Given the description of an element on the screen output the (x, y) to click on. 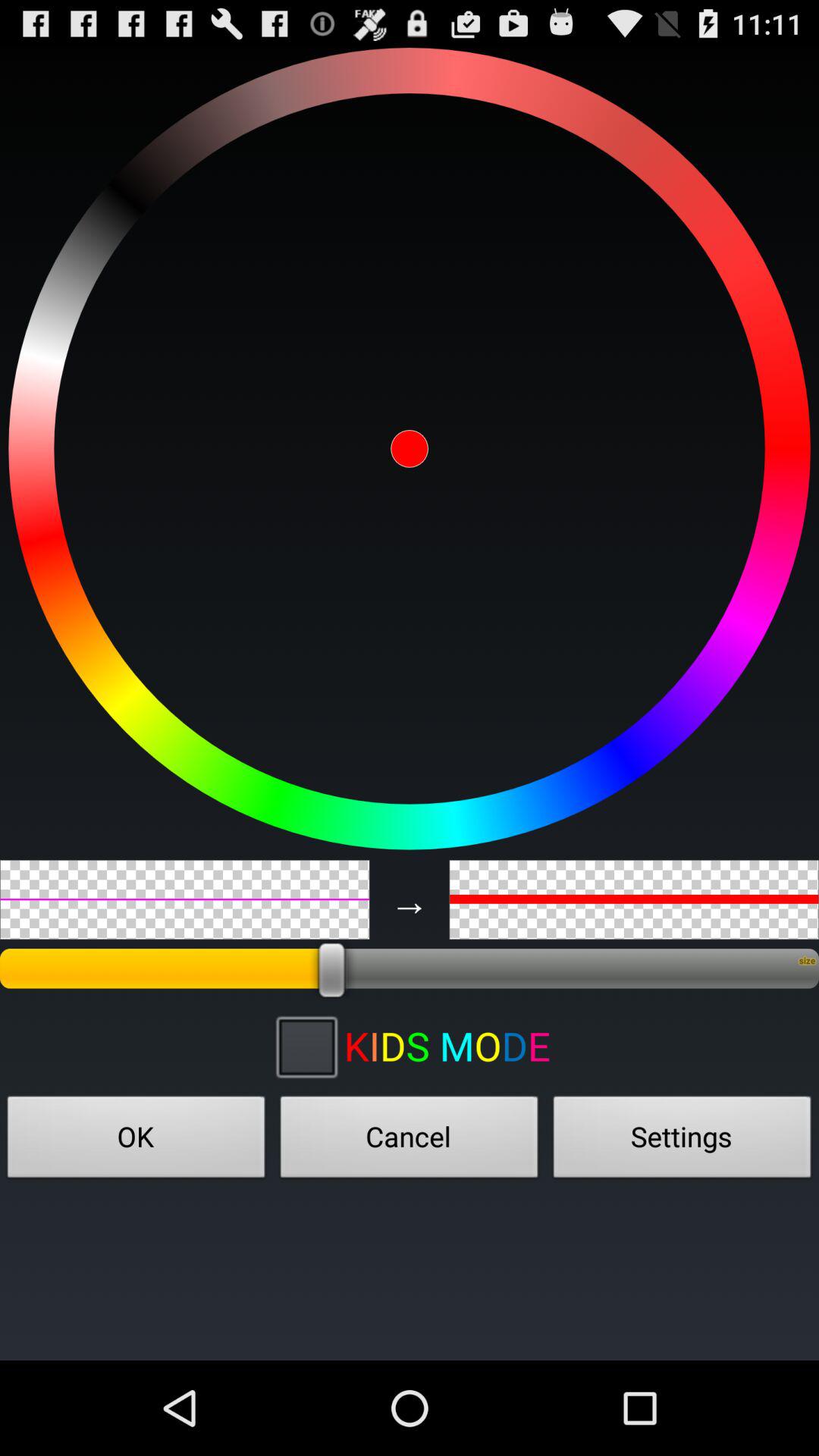
open the settings item (682, 1141)
